Given the description of an element on the screen output the (x, y) to click on. 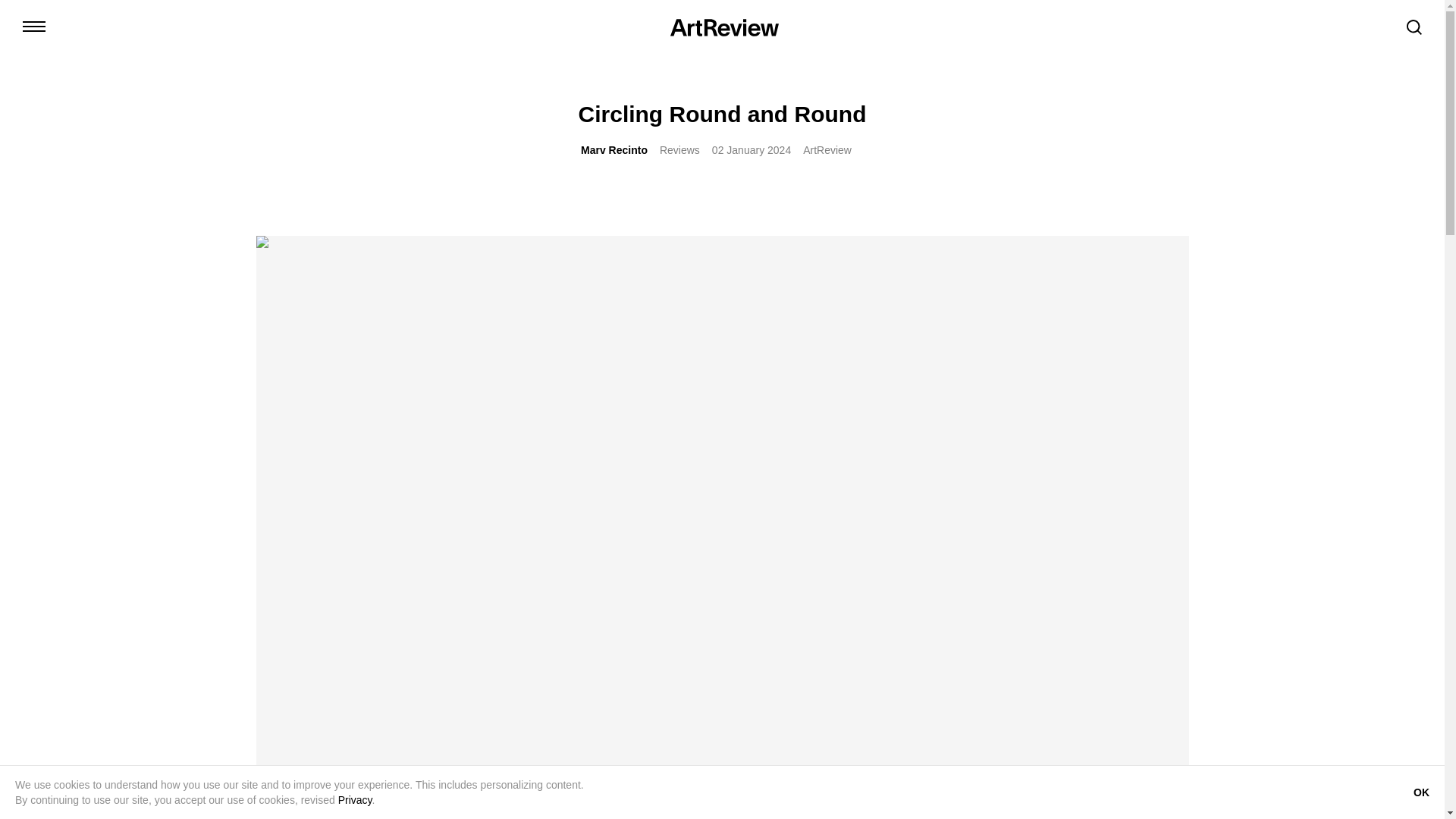
Marv Recinto (613, 150)
Reviews (679, 150)
